Given the description of an element on the screen output the (x, y) to click on. 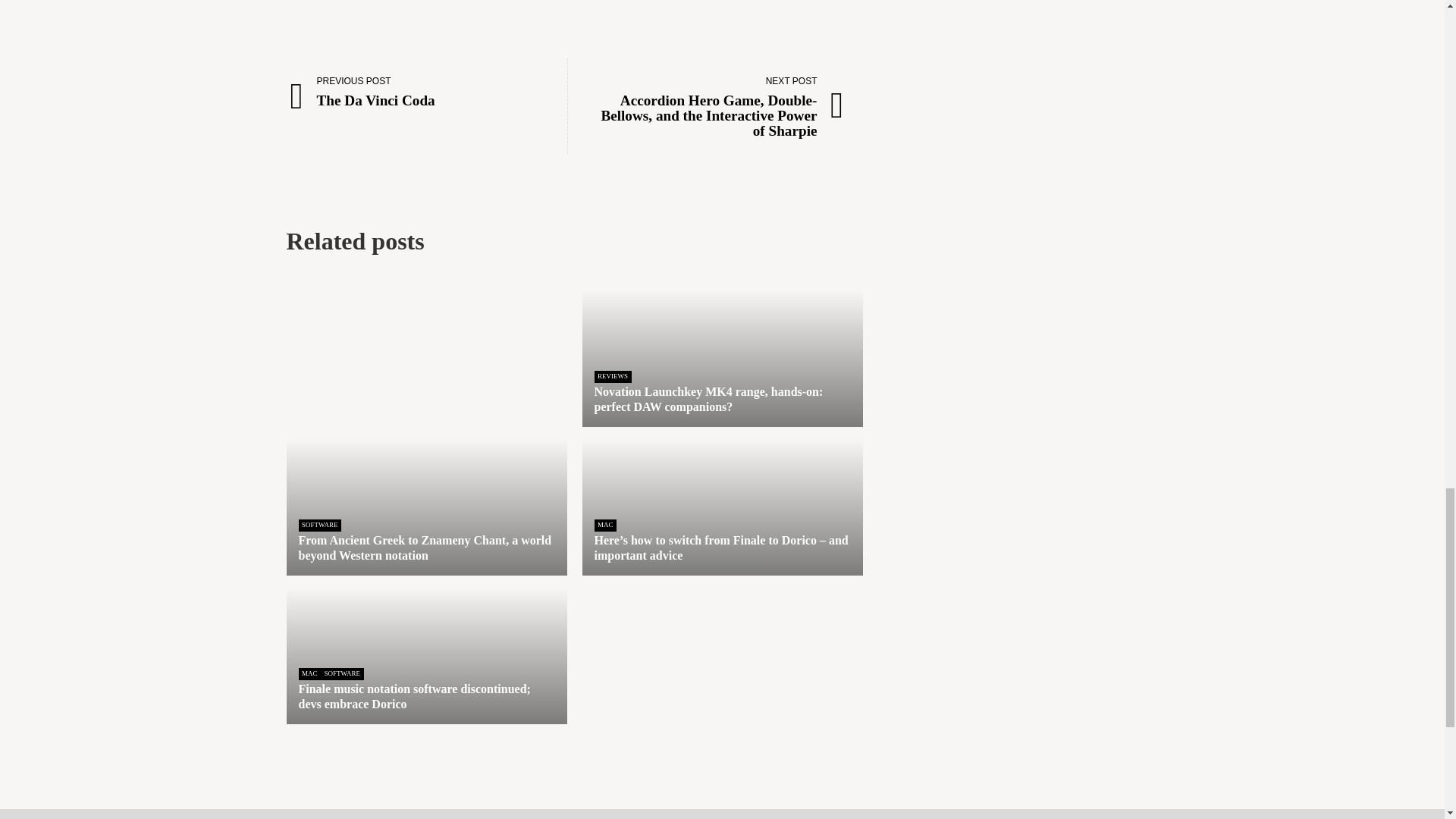
SOFTWARE (320, 524)
REVIEWS (422, 90)
MAC (612, 376)
